Given the description of an element on the screen output the (x, y) to click on. 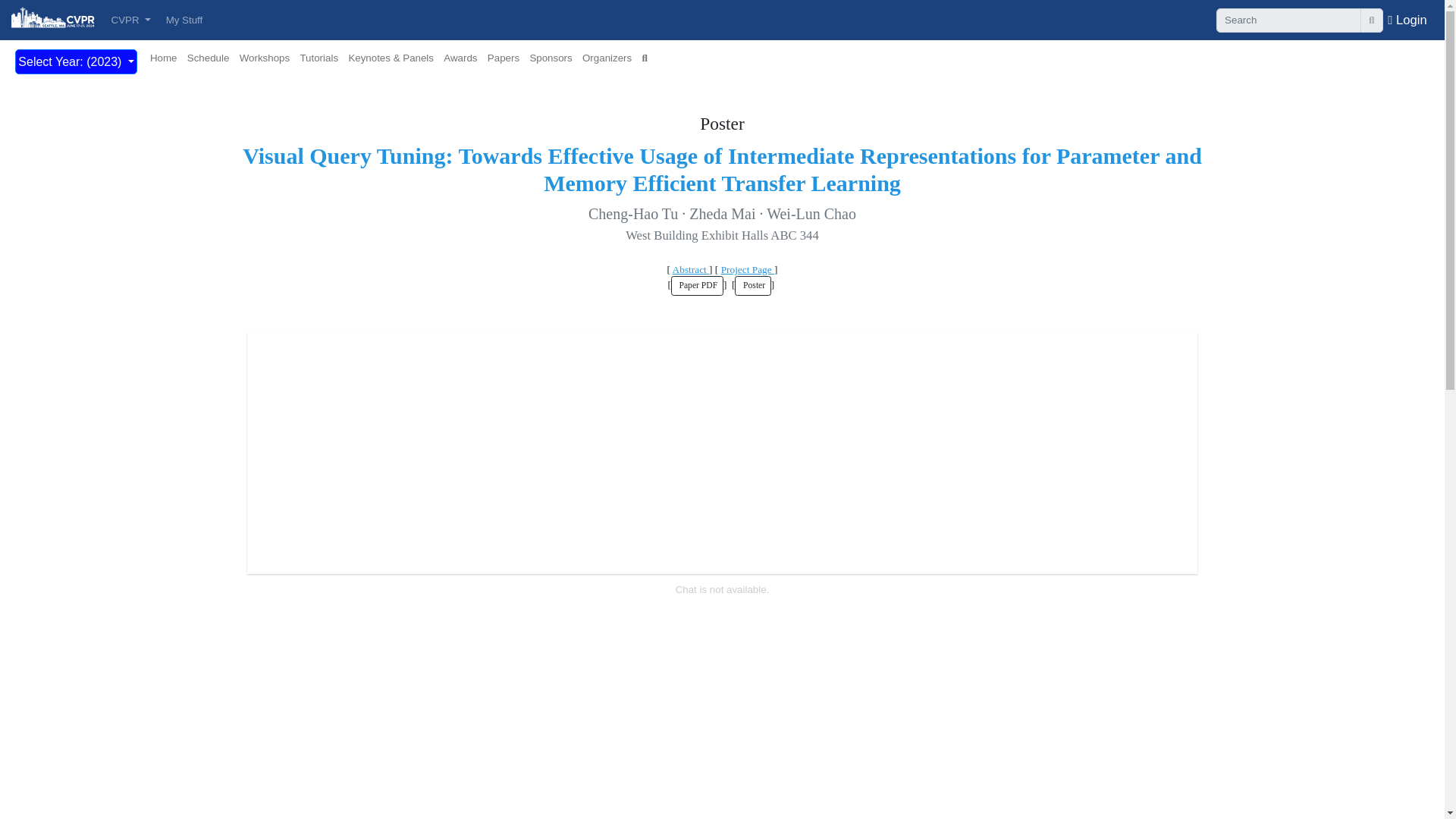
My Stuff (184, 20)
Paper PDF (697, 285)
Papers (503, 57)
Abstract (690, 269)
Sponsors (551, 57)
Home (163, 57)
Login (1406, 19)
Poster (752, 285)
Workshops (263, 57)
Tutorials (318, 57)
